Given the description of an element on the screen output the (x, y) to click on. 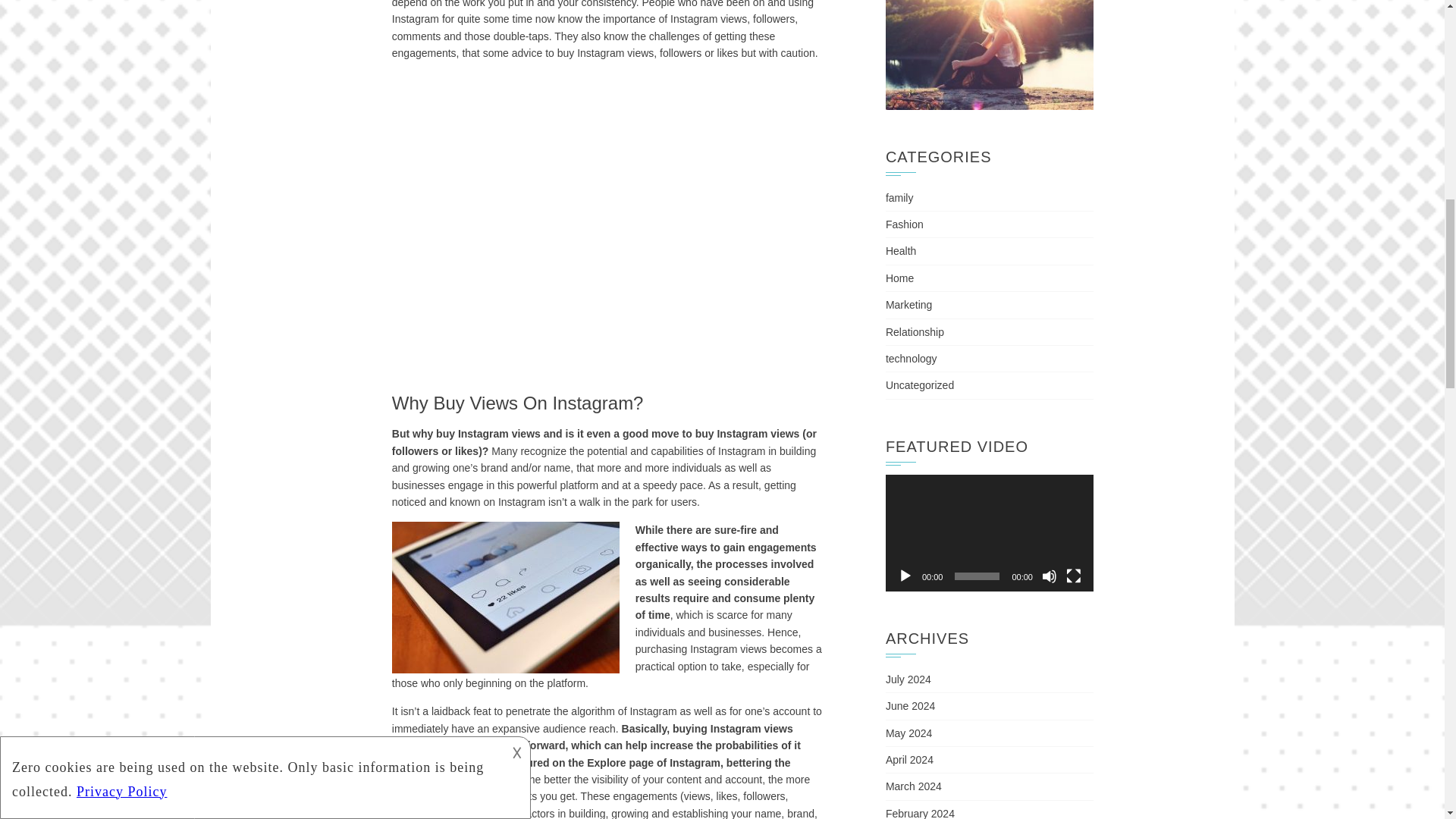
Play (905, 575)
What Is An Influencer? (606, 223)
family (899, 197)
Mute (1049, 575)
Fullscreen (1073, 575)
